Given the description of an element on the screen output the (x, y) to click on. 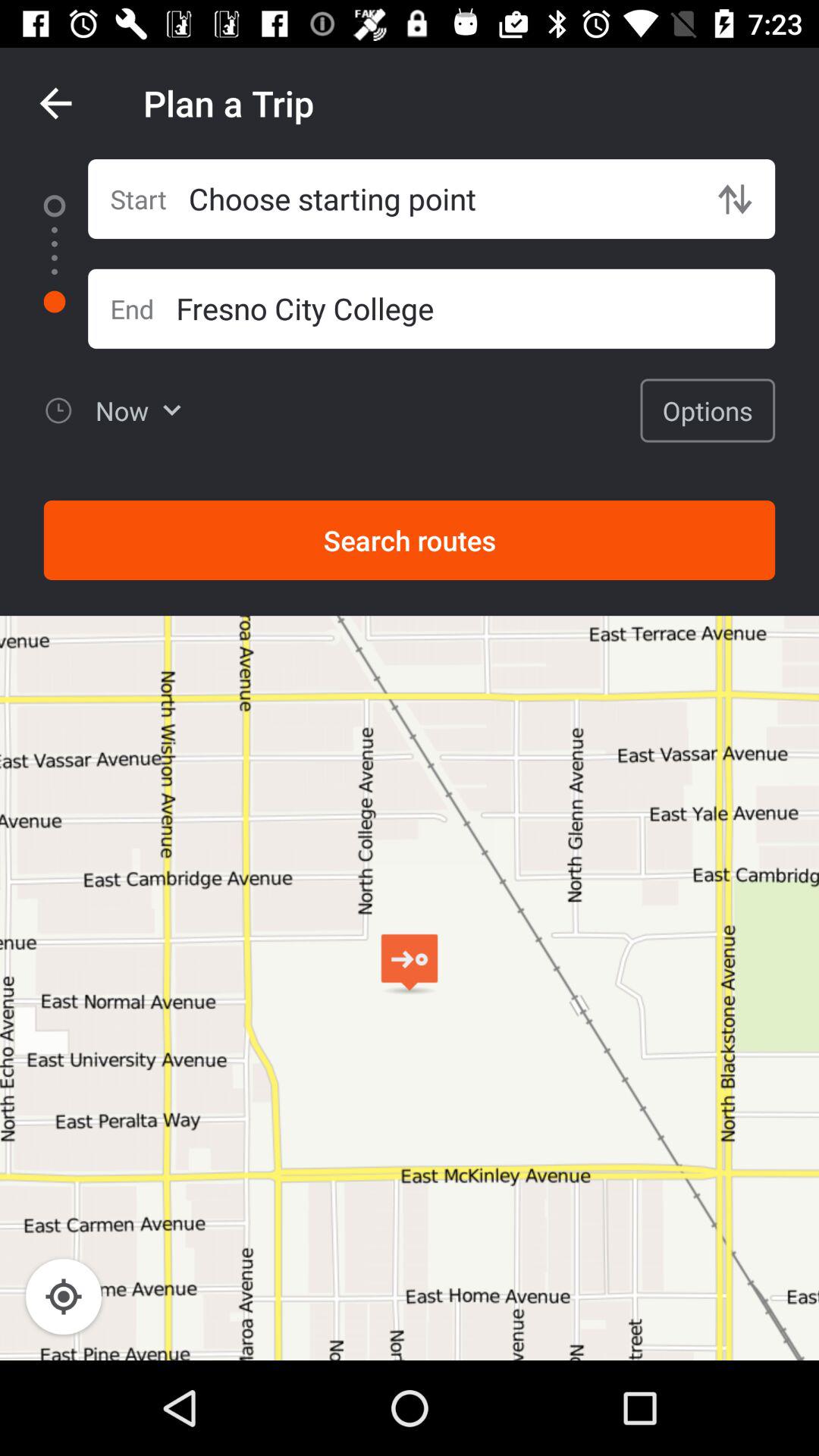
press icon next to plan a trip (55, 103)
